Given the description of an element on the screen output the (x, y) to click on. 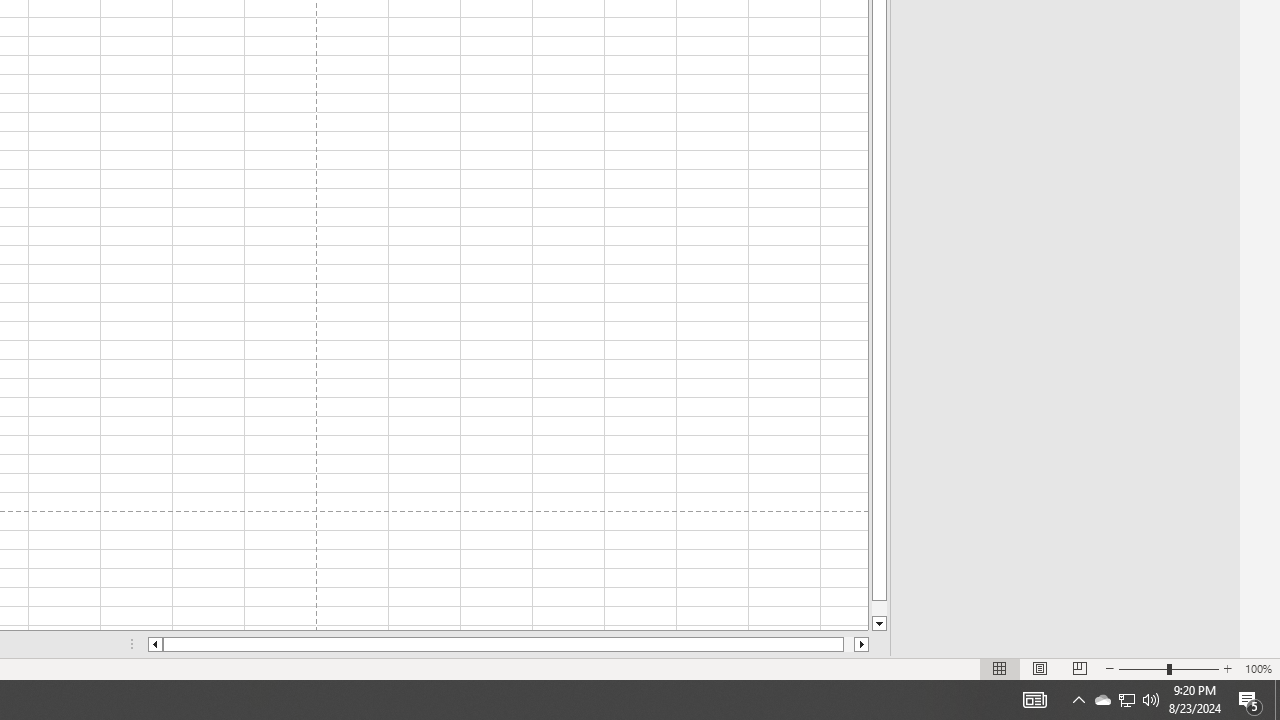
Normal (1000, 668)
Page Break Preview (1079, 668)
Zoom In (1227, 668)
Page down (879, 608)
User Promoted Notification Area (1126, 699)
Notification Chevron (1078, 699)
Class: NetUIScrollBar (507, 644)
Action Center, 5 new notifications (1250, 699)
Zoom Out (1126, 699)
Q2790: 100% (1142, 668)
Line down (1151, 699)
AutomationID: 4105 (879, 624)
